Given the description of an element on the screen output the (x, y) to click on. 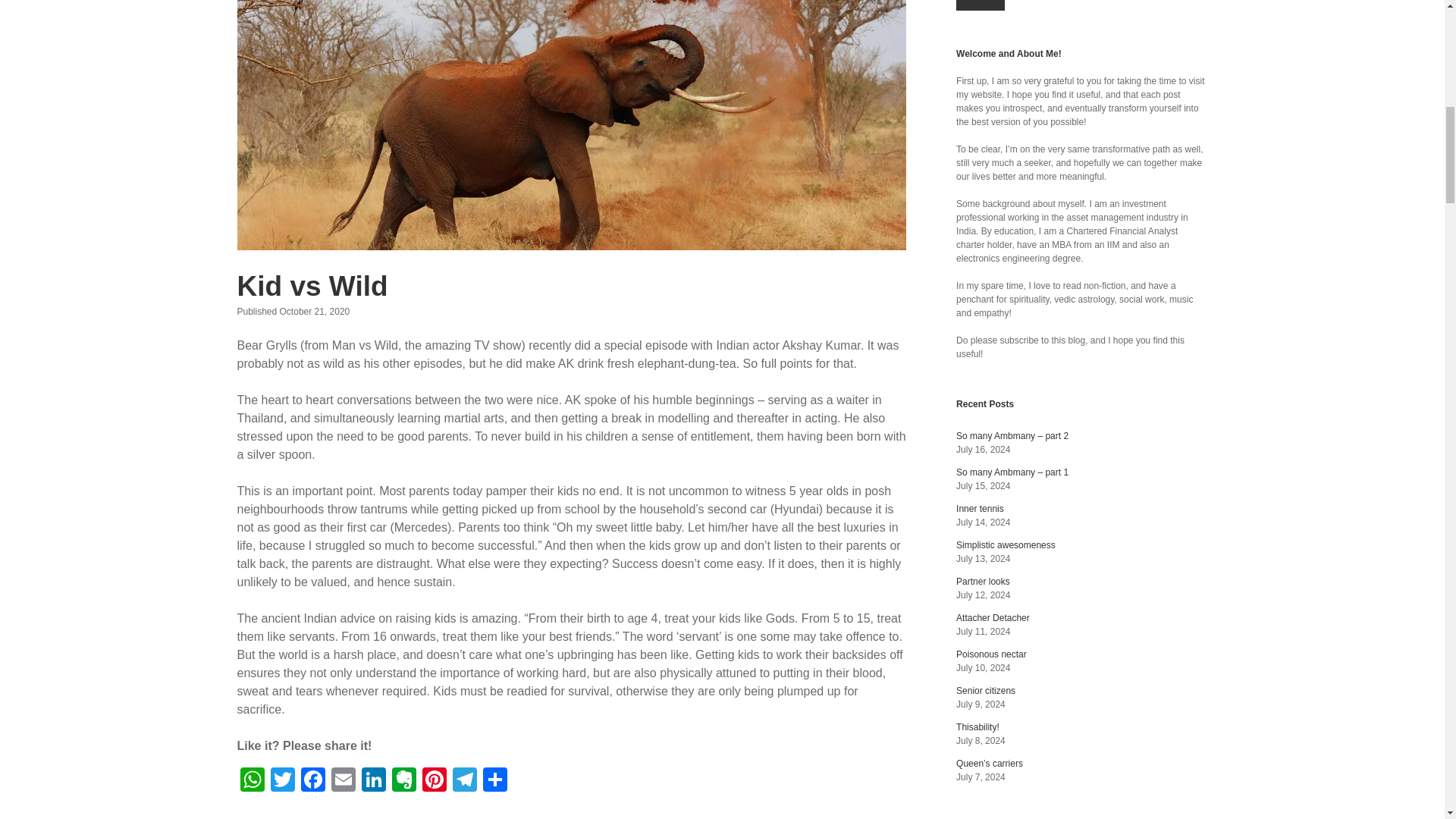
Partner looks (983, 581)
Evernote (403, 781)
Welcome and About Me! (1008, 53)
Inner tennis (980, 508)
Email (342, 781)
Telegram (463, 781)
Facebook (312, 781)
Subscribe (980, 5)
Poisonous nectar (991, 654)
WhatsApp (250, 781)
WhatsApp (250, 781)
Thisability! (977, 726)
Twitter (281, 781)
Pinterest (433, 781)
